Given the description of an element on the screen output the (x, y) to click on. 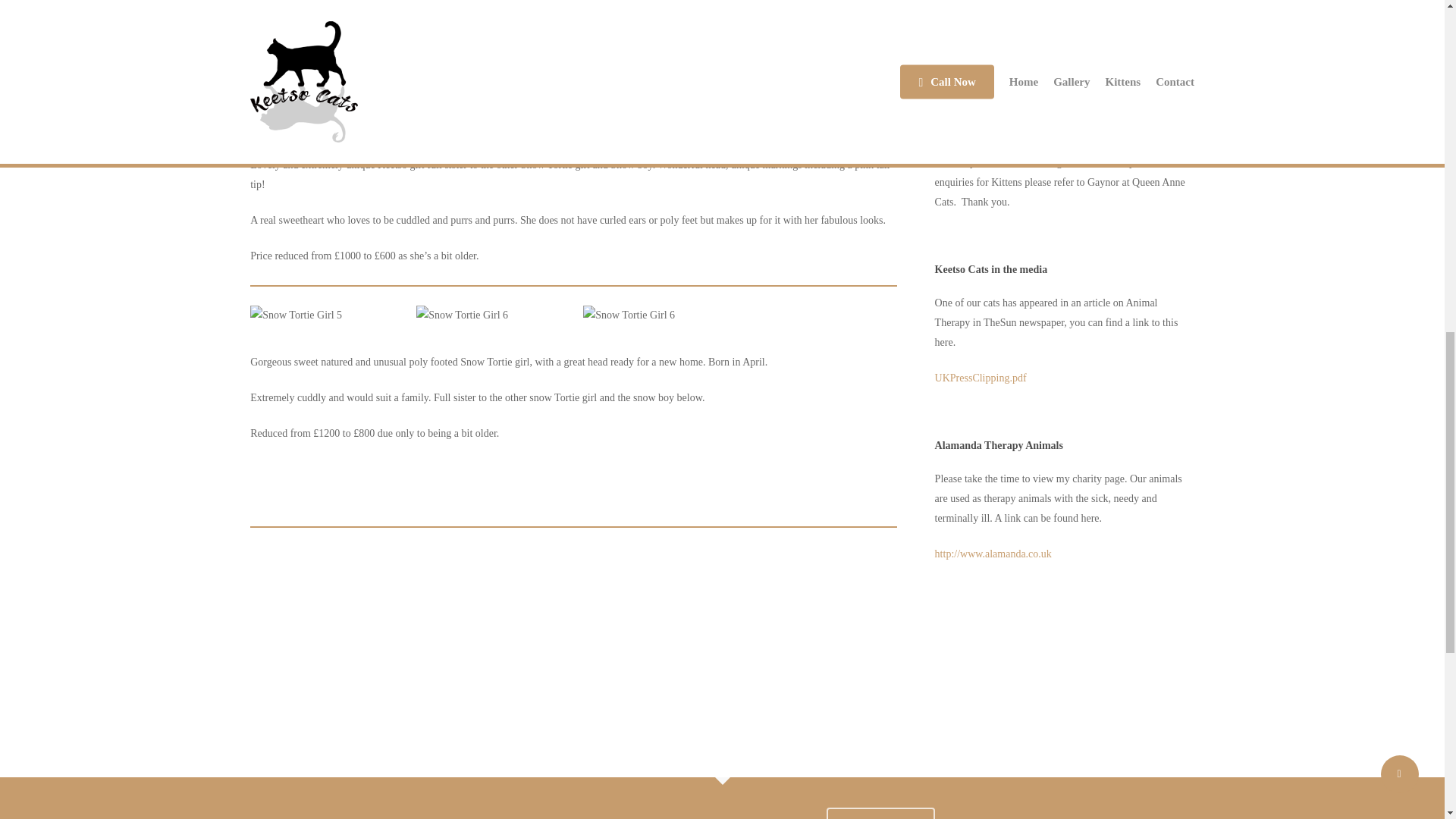
Snow Tortie Girl 5 (322, 315)
Snow Tortie Girl 2 (488, 117)
Snow Tortie Girl 3 (654, 117)
UKPressClipping.pdf (980, 378)
Snow Tortie Girl 4 (821, 117)
Snow Tortie Girl 6 (654, 315)
CONTACT US (880, 813)
Snow Tortie Girl 6 (488, 315)
Snow Tortie Girl 1 (322, 117)
